Given the description of an element on the screen output the (x, y) to click on. 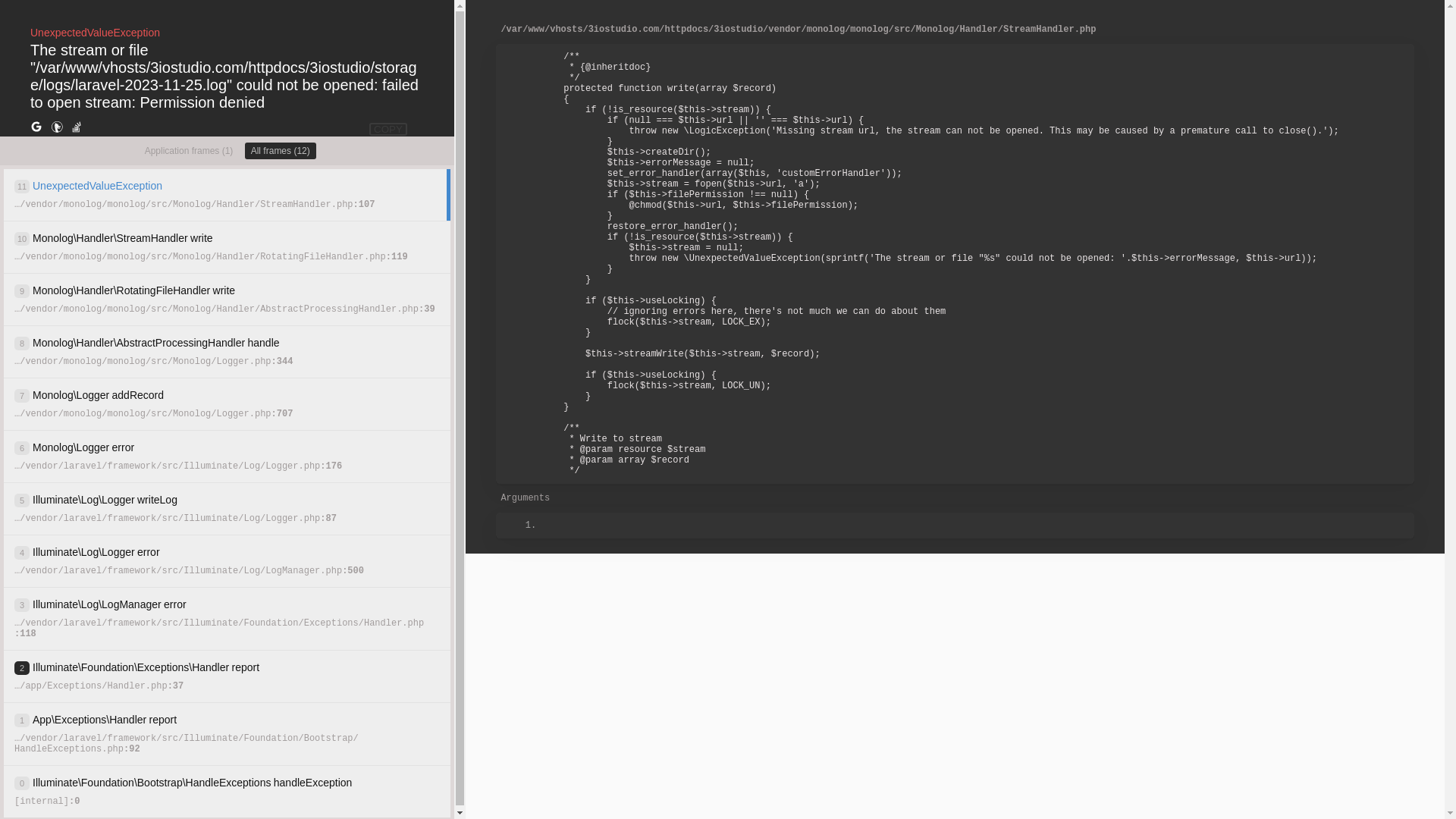
Search for help on DuckDuckGo. Element type: hover (56, 127)
Search for help on Stack Overflow. Element type: hover (76, 127)
Search for help on Google. Element type: hover (36, 127)
Application frames (1) Element type: text (188, 150)
All frames (12) Element type: text (280, 150)
COPY Element type: text (388, 128)
